Given the description of an element on the screen output the (x, y) to click on. 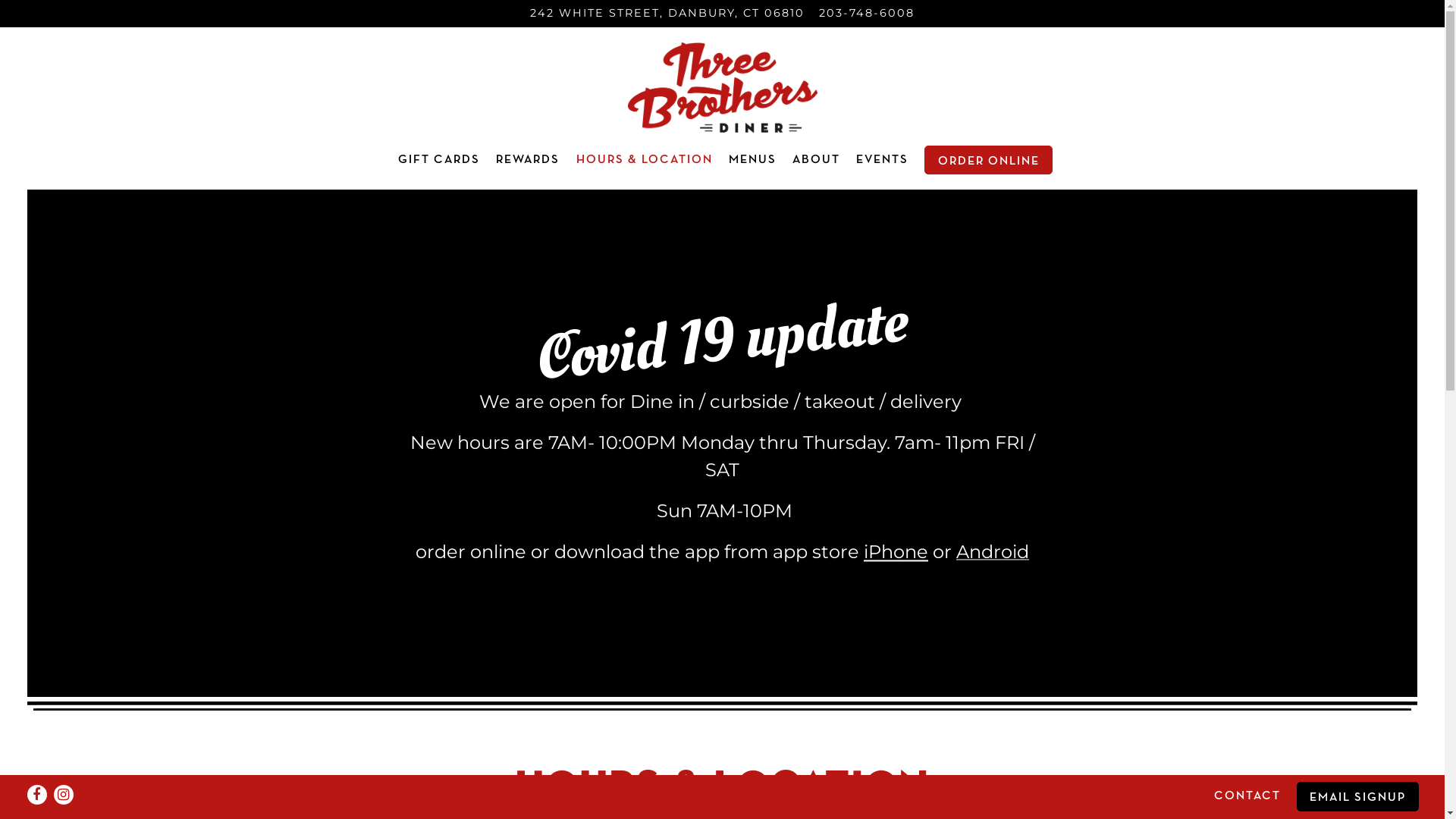
REWARDS Element type: text (527, 159)
MENUS Element type: text (752, 159)
HOURS & LOCATION Element type: text (644, 159)
Facebook Element type: text (37, 794)
EMAIL SIGNUP Element type: text (1357, 795)
ORDER ONLINE Element type: text (987, 159)
CONTACT Element type: text (1247, 796)
iPhone Element type: text (895, 551)
Instagram Element type: text (63, 794)
Android Element type: text (992, 553)
EVENTS Element type: text (882, 159)
203-748-6008 Element type: text (866, 13)
242 WHITE STREET, DANBURY, CT 06810 Element type: text (667, 13)
ABOUT Element type: text (816, 159)
GIFT CARDS Element type: text (439, 159)
